Given the description of an element on the screen output the (x, y) to click on. 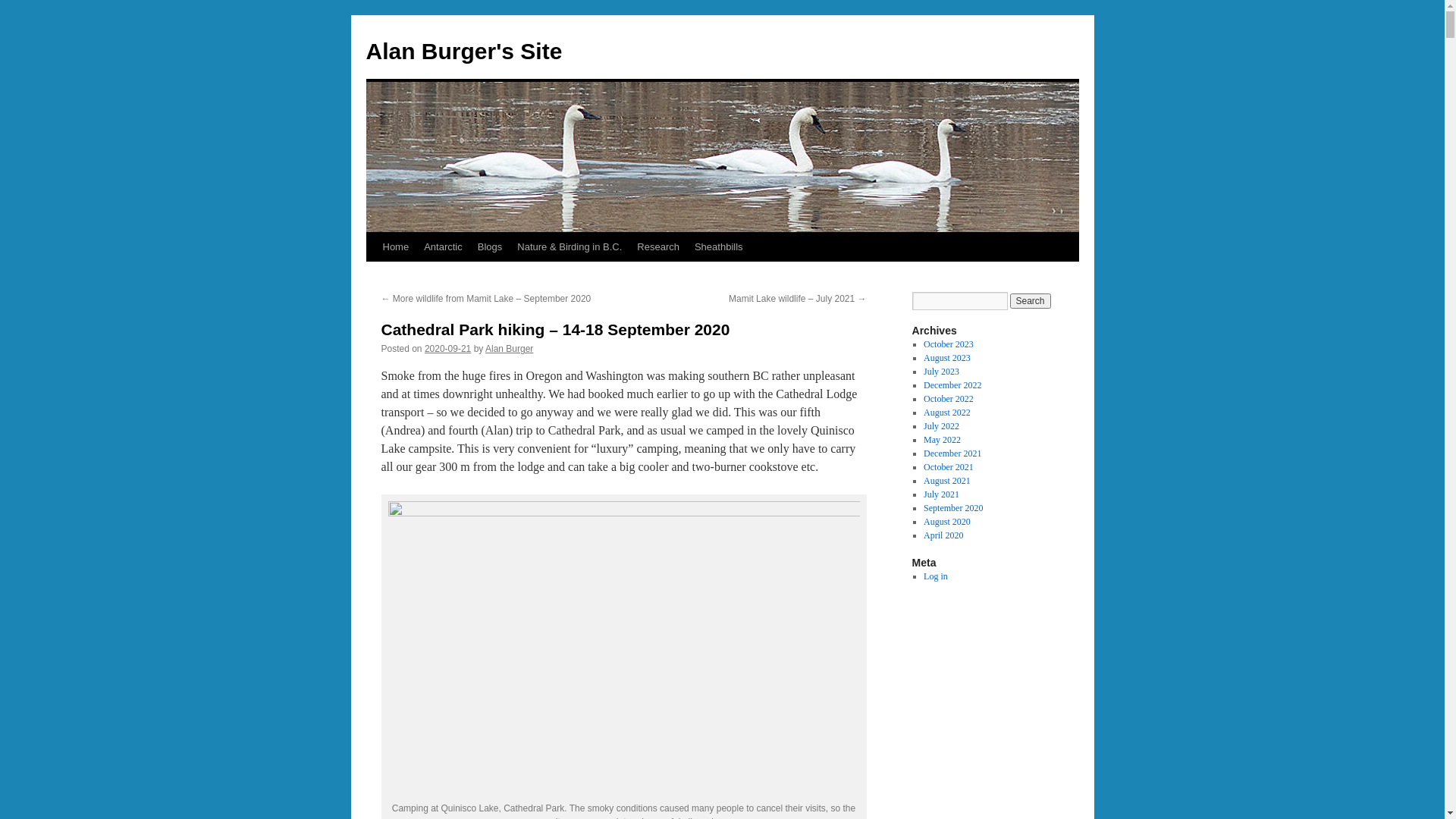
Blogs Element type: text (490, 246)
October 2023 Element type: text (948, 343)
September 2020 Element type: text (952, 507)
August 2021 Element type: text (946, 480)
Alan Burger's Site Element type: text (463, 50)
May 2022 Element type: text (941, 439)
Sheathbills Element type: text (718, 246)
July 2021 Element type: text (941, 494)
Antarctic Element type: text (443, 246)
2020-09-21 Element type: text (447, 348)
December 2022 Element type: text (952, 384)
Search Element type: text (1030, 300)
December 2021 Element type: text (952, 453)
October 2021 Element type: text (948, 466)
August 2023 Element type: text (946, 357)
April 2020 Element type: text (943, 535)
Nature & Birding in B.C. Element type: text (569, 246)
August 2022 Element type: text (946, 412)
July 2023 Element type: text (941, 371)
July 2022 Element type: text (941, 425)
Log in Element type: text (935, 576)
Research Element type: text (658, 246)
Alan Burger Element type: text (509, 348)
Skip to content Element type: text (372, 275)
Home Element type: text (395, 246)
October 2022 Element type: text (948, 398)
August 2020 Element type: text (946, 521)
